Given the description of an element on the screen output the (x, y) to click on. 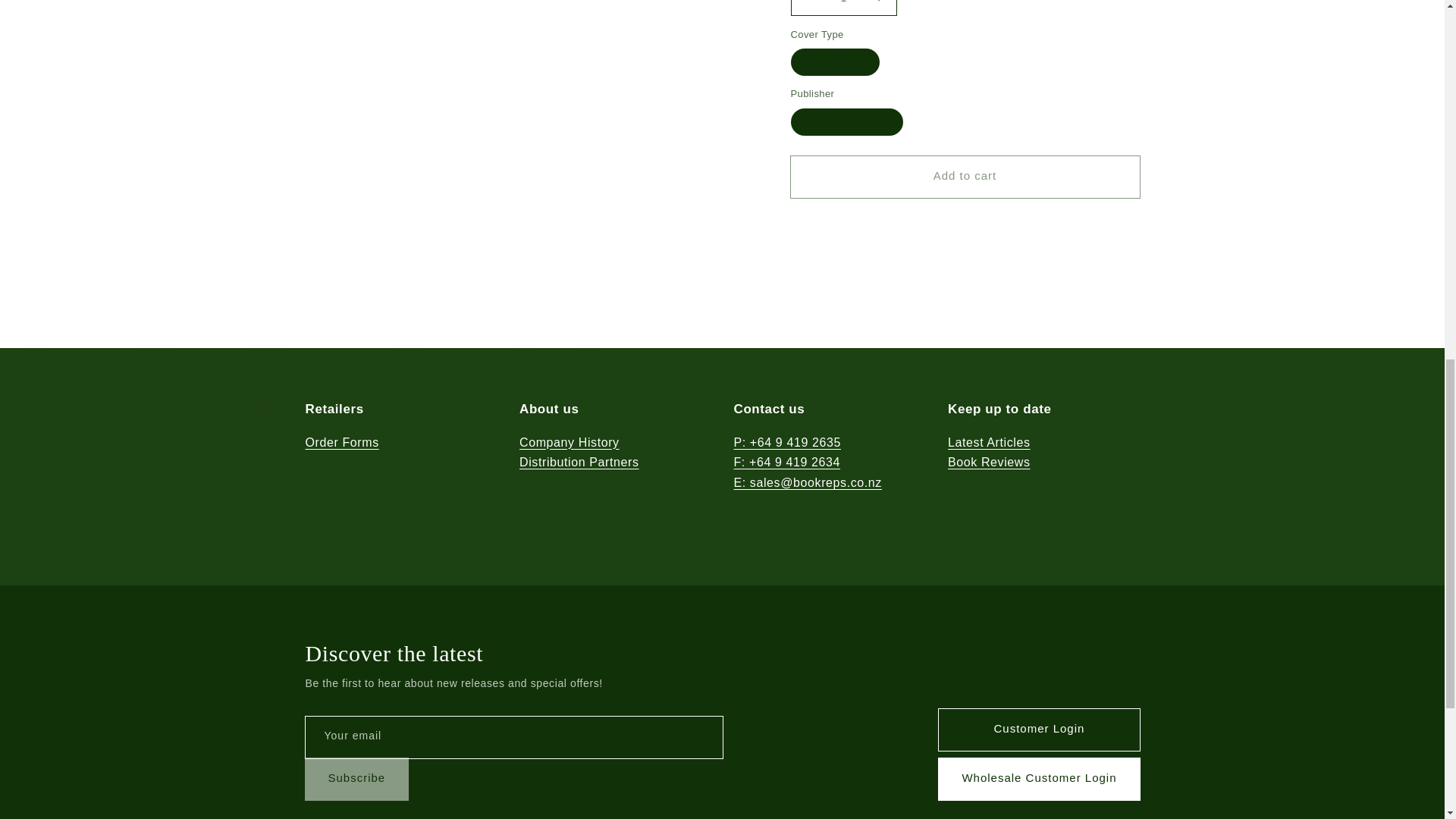
Add to cart (964, 158)
